Given the description of an element on the screen output the (x, y) to click on. 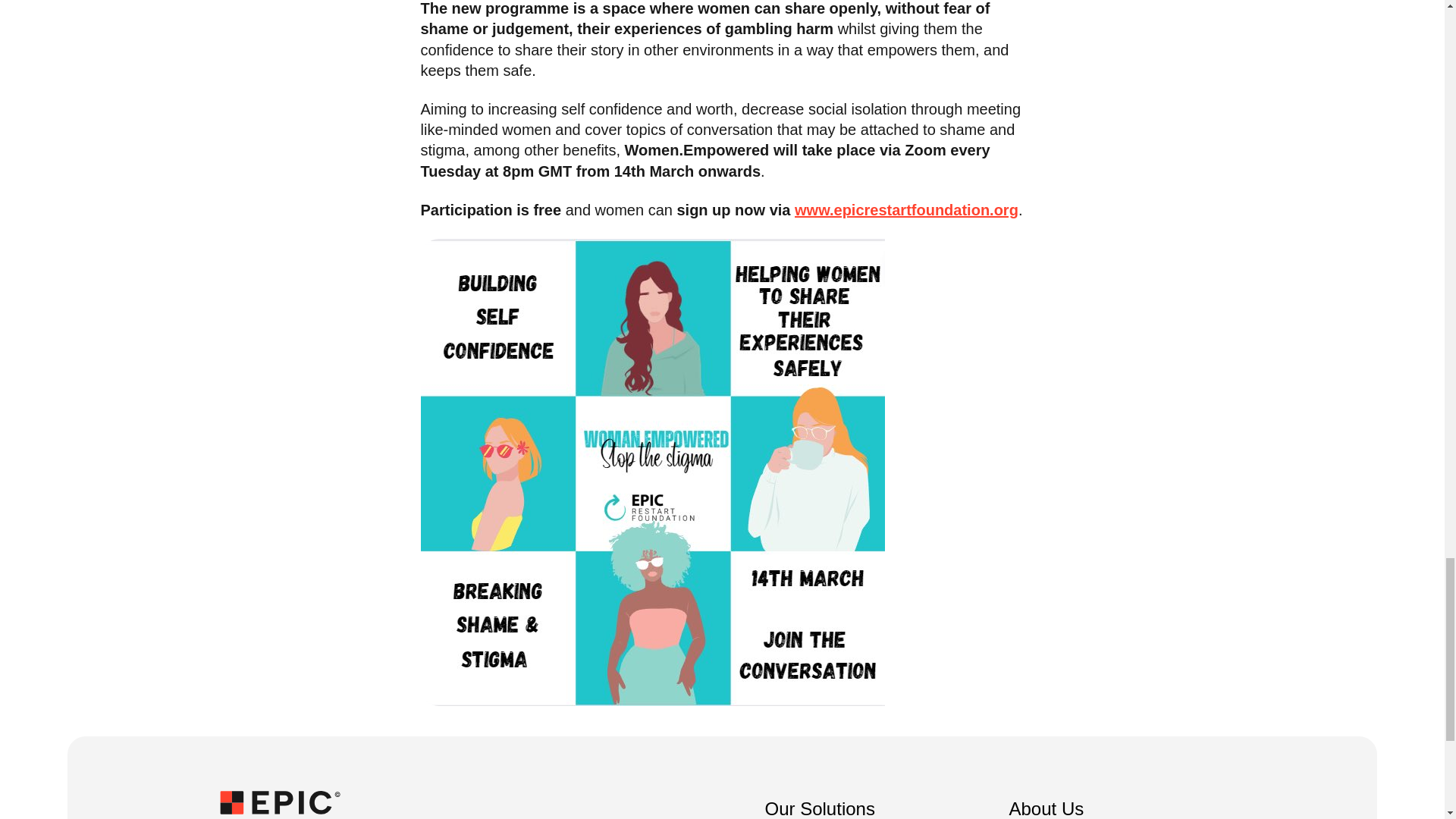
About Us (1046, 805)
Our Solutions (819, 805)
www.epicrestartfoundation.org (905, 209)
